Given the description of an element on the screen output the (x, y) to click on. 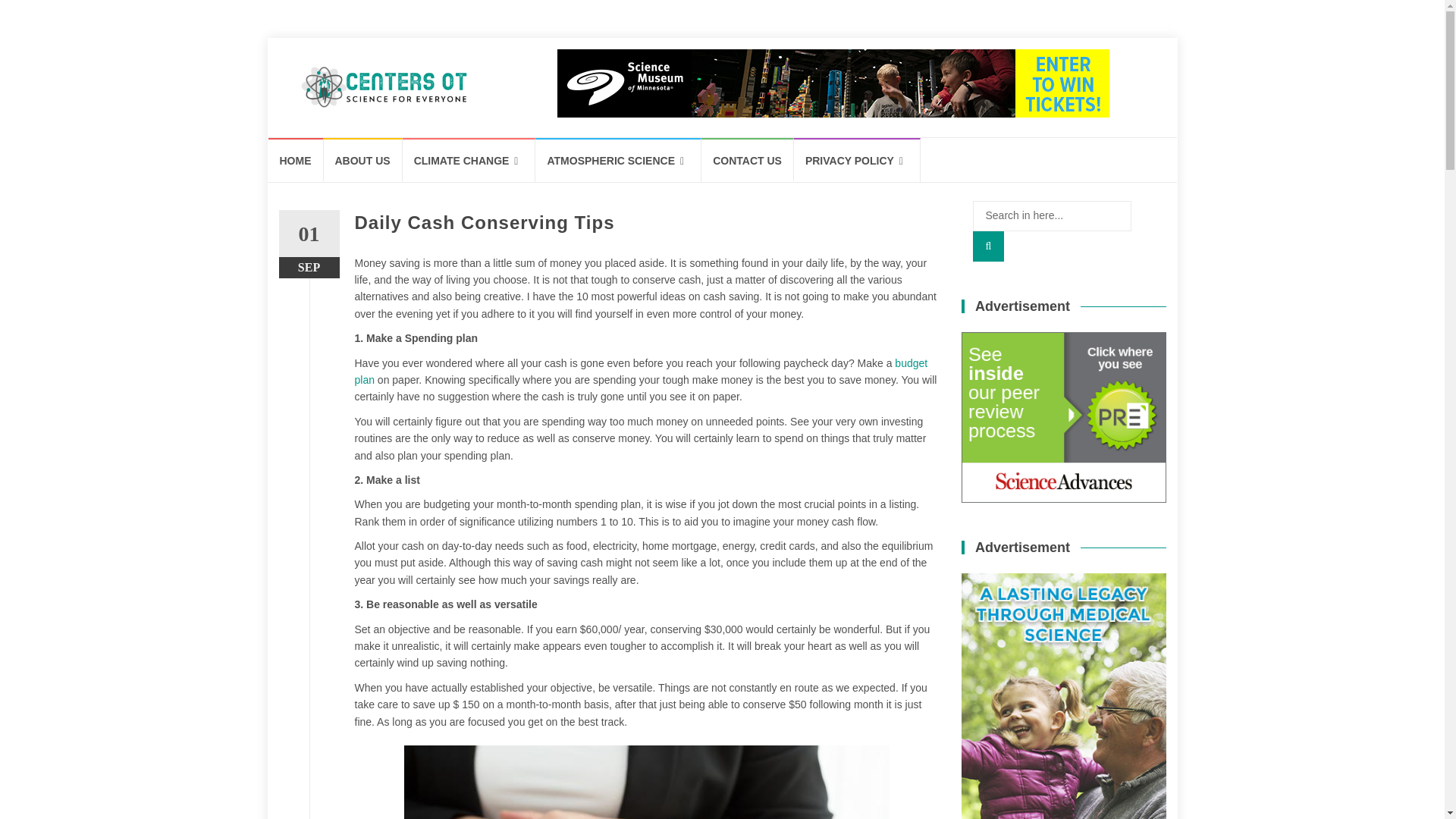
ABOUT US (362, 159)
CONTACT US (747, 159)
ATMOSPHERIC SCIENCE (618, 159)
budget plan (641, 371)
Search (988, 245)
Search for: (1051, 215)
PRIVACY POLICY (856, 159)
CLIMATE CHANGE (469, 159)
HOME (295, 159)
